Given the description of an element on the screen output the (x, y) to click on. 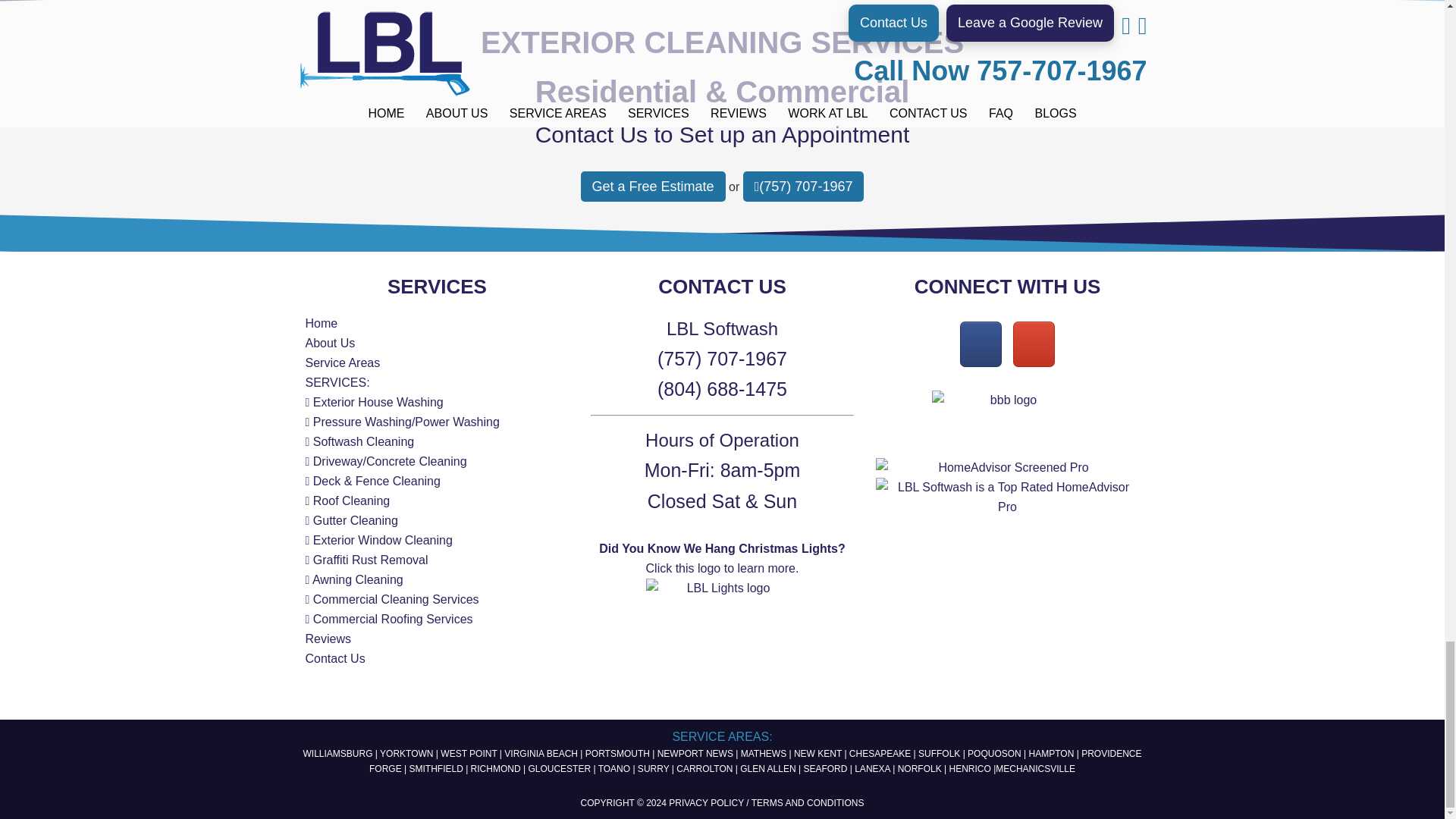
LBL Softwash on Google (1033, 343)
LBL Softwash on Facebook (980, 343)
